Given the description of an element on the screen output the (x, y) to click on. 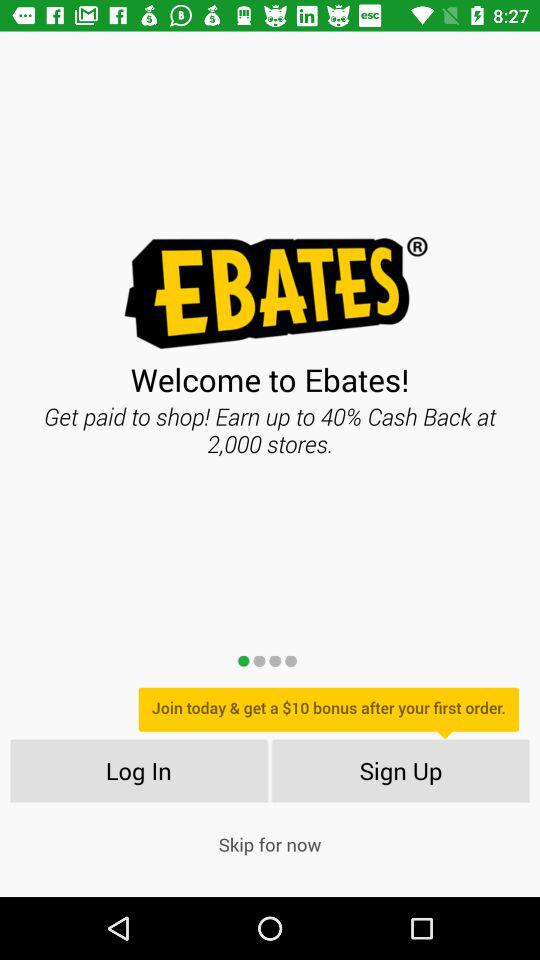
launch icon at the bottom left corner (138, 770)
